Given the description of an element on the screen output the (x, y) to click on. 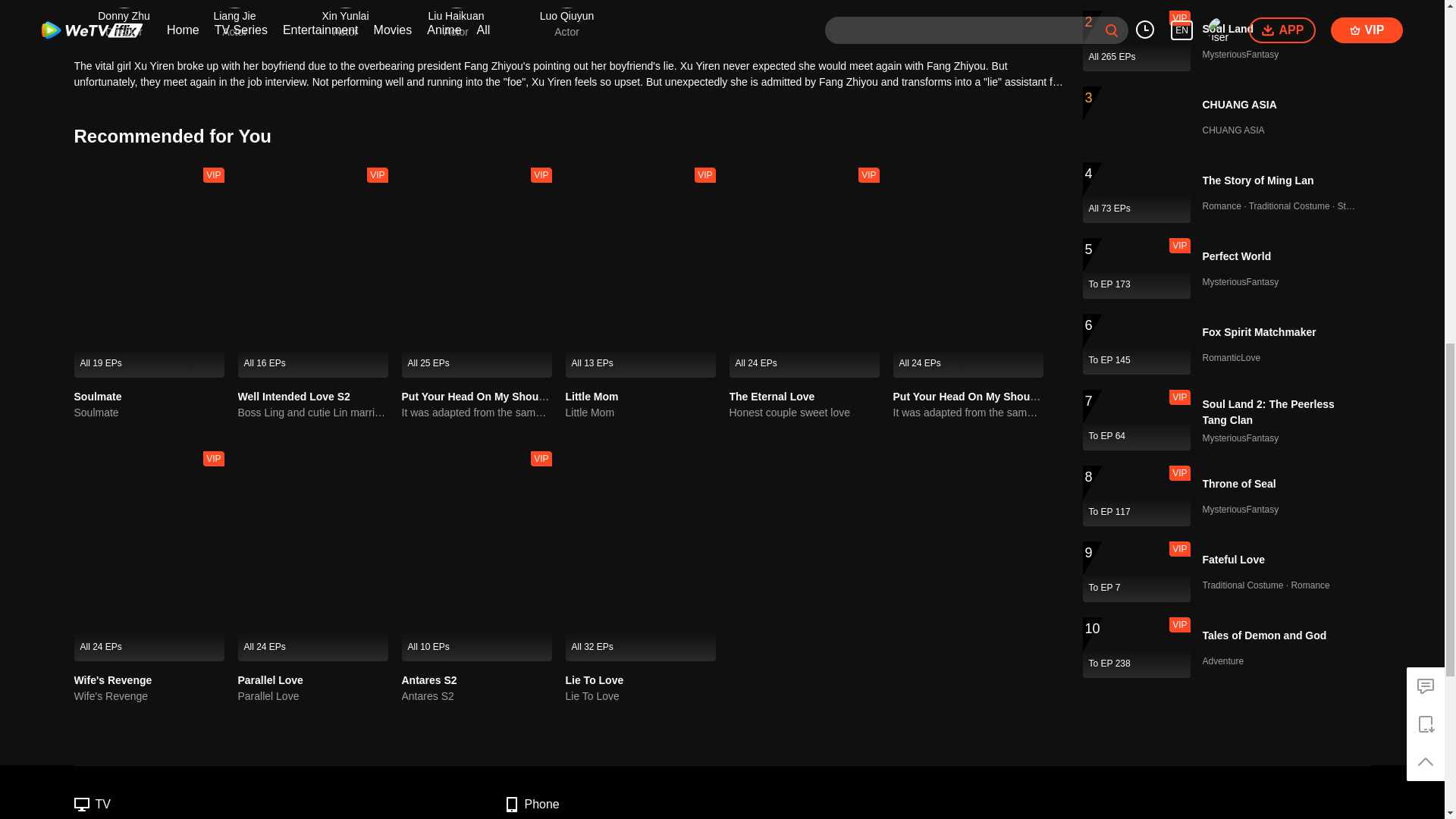
Put Your Head On My Shoulder (479, 396)
Little Mom (592, 396)
Wife's Revenge (113, 680)
The Eternal Love (772, 396)
Soulmate (149, 412)
Honest couple sweet love (804, 412)
Soulmate (98, 396)
Well Intended Love S2 (294, 396)
